Given the description of an element on the screen output the (x, y) to click on. 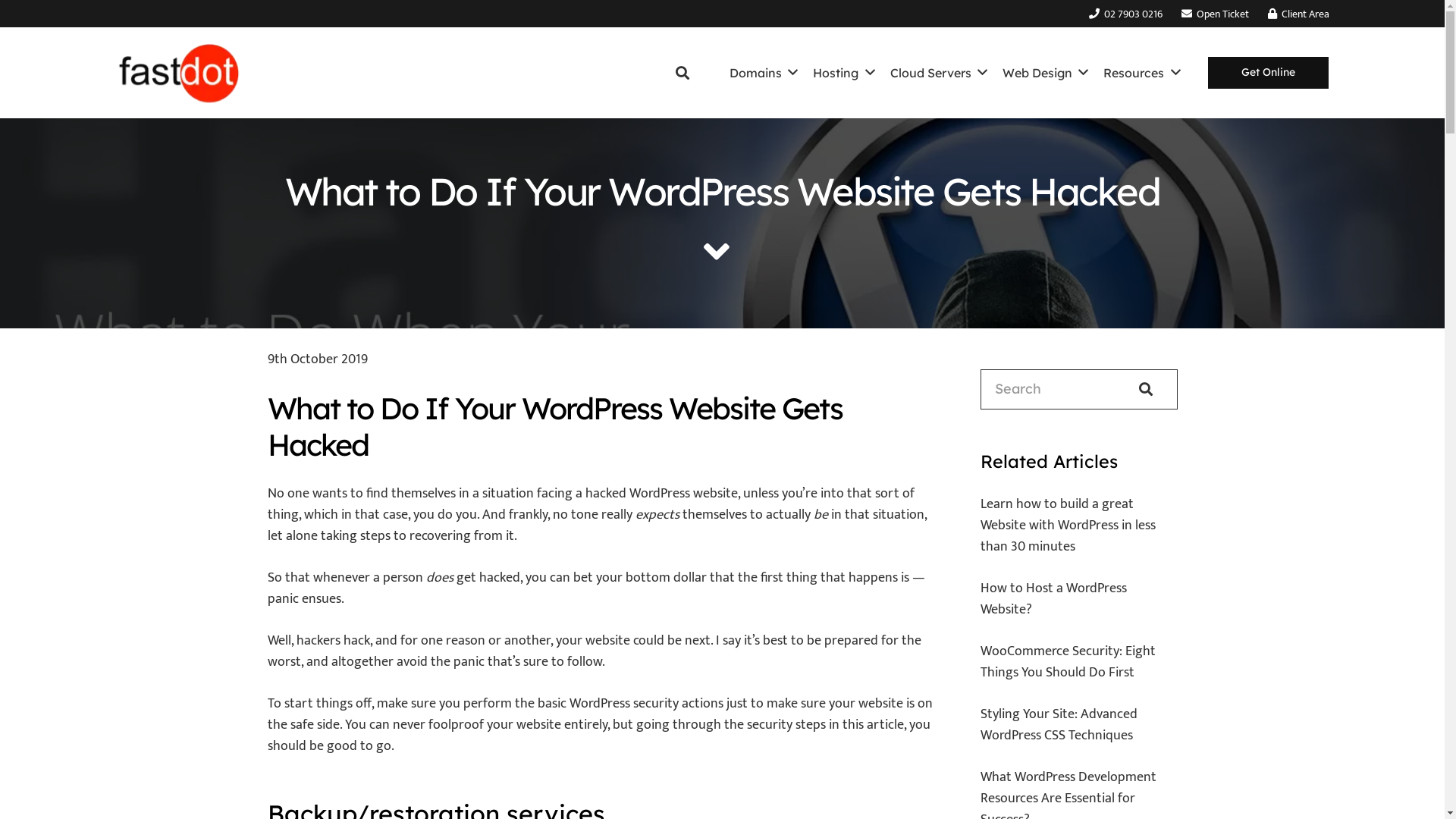
Hosting Element type: text (843, 72)
Web Design Element type: text (1044, 72)
Cloud Servers Element type: text (938, 72)
Resources Element type: text (1141, 72)
02 7903 0216 Element type: text (1125, 12)
Open Ticket Element type: text (1214, 12)
How to Host a WordPress Website? Element type: text (1053, 599)
Get Online Element type: text (1268, 72)
WooCommerce Security: Eight Things You Should Do First Element type: text (1067, 662)
Domains Element type: text (763, 72)
Styling Your Site: Advanced WordPress CSS Techniques Element type: text (1058, 724)
Client Area Element type: text (1298, 12)
